Given the description of an element on the screen output the (x, y) to click on. 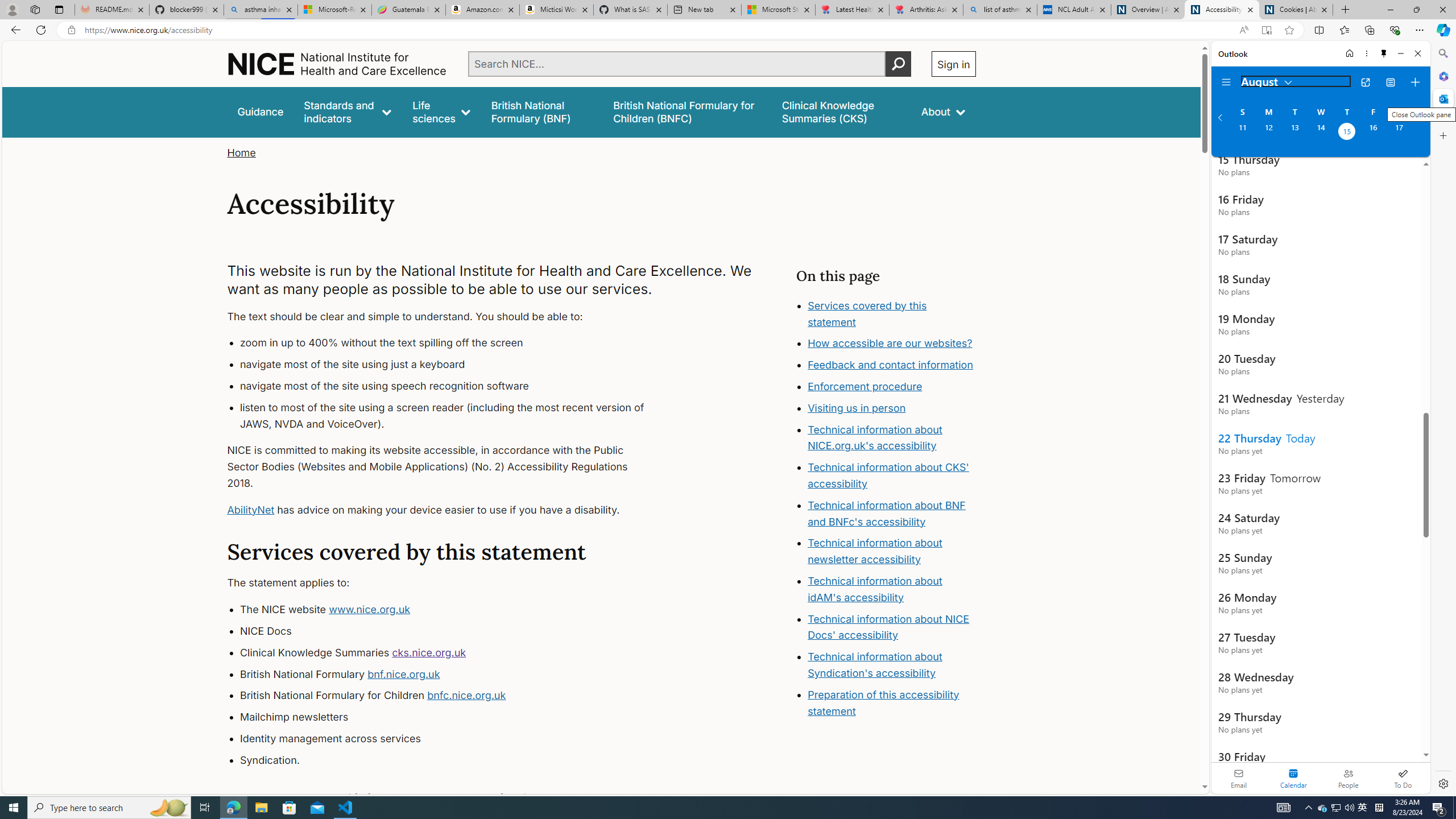
Wednesday, August 14, 2024.  (1320, 132)
Preparation of this accessibility statement (891, 702)
www.nice.org.uk (369, 609)
Arthritis: Ask Health Professionals (925, 9)
Open in new tab (1365, 82)
Feedback and contact information (891, 365)
Technical information about newsletter accessibility (875, 551)
Visiting us in person (856, 407)
British National Formulary for Children (BNFC) (686, 111)
